Given the description of an element on the screen output the (x, y) to click on. 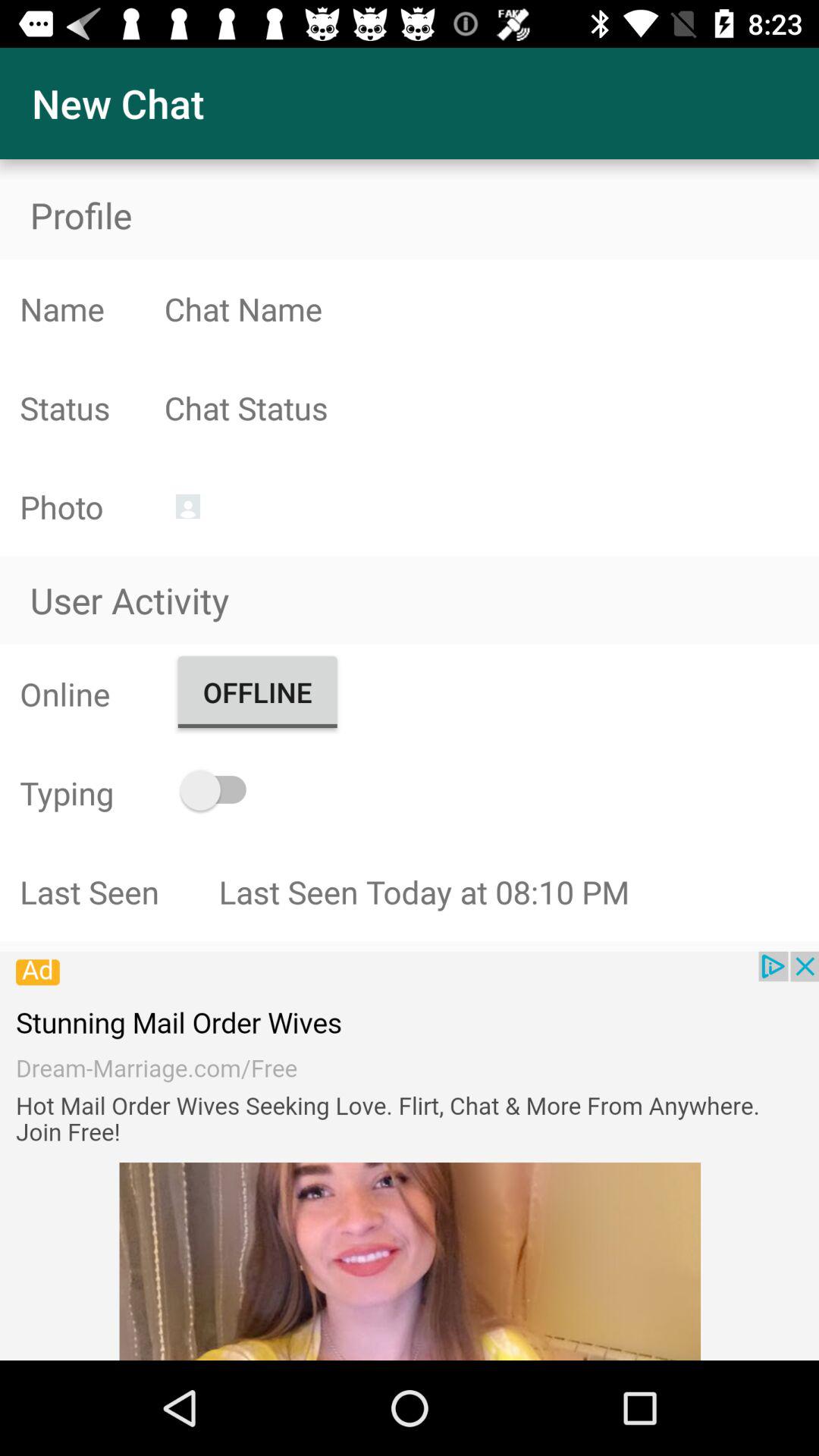
share the article (409, 1155)
